Given the description of an element on the screen output the (x, y) to click on. 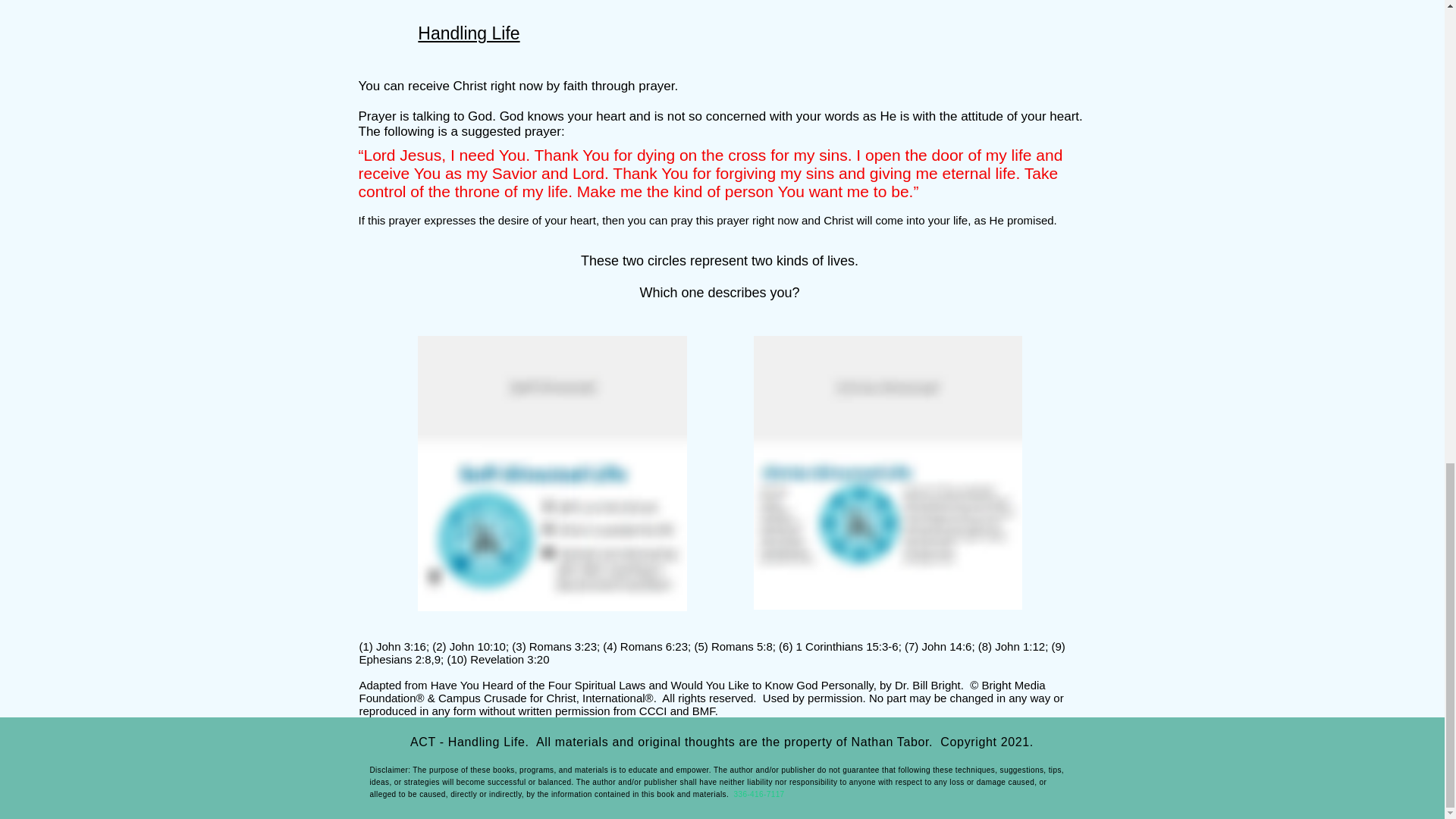
Is Christ at the center of you life? (888, 472)
Is your life self-directed? (550, 472)
